Given the description of an element on the screen output the (x, y) to click on. 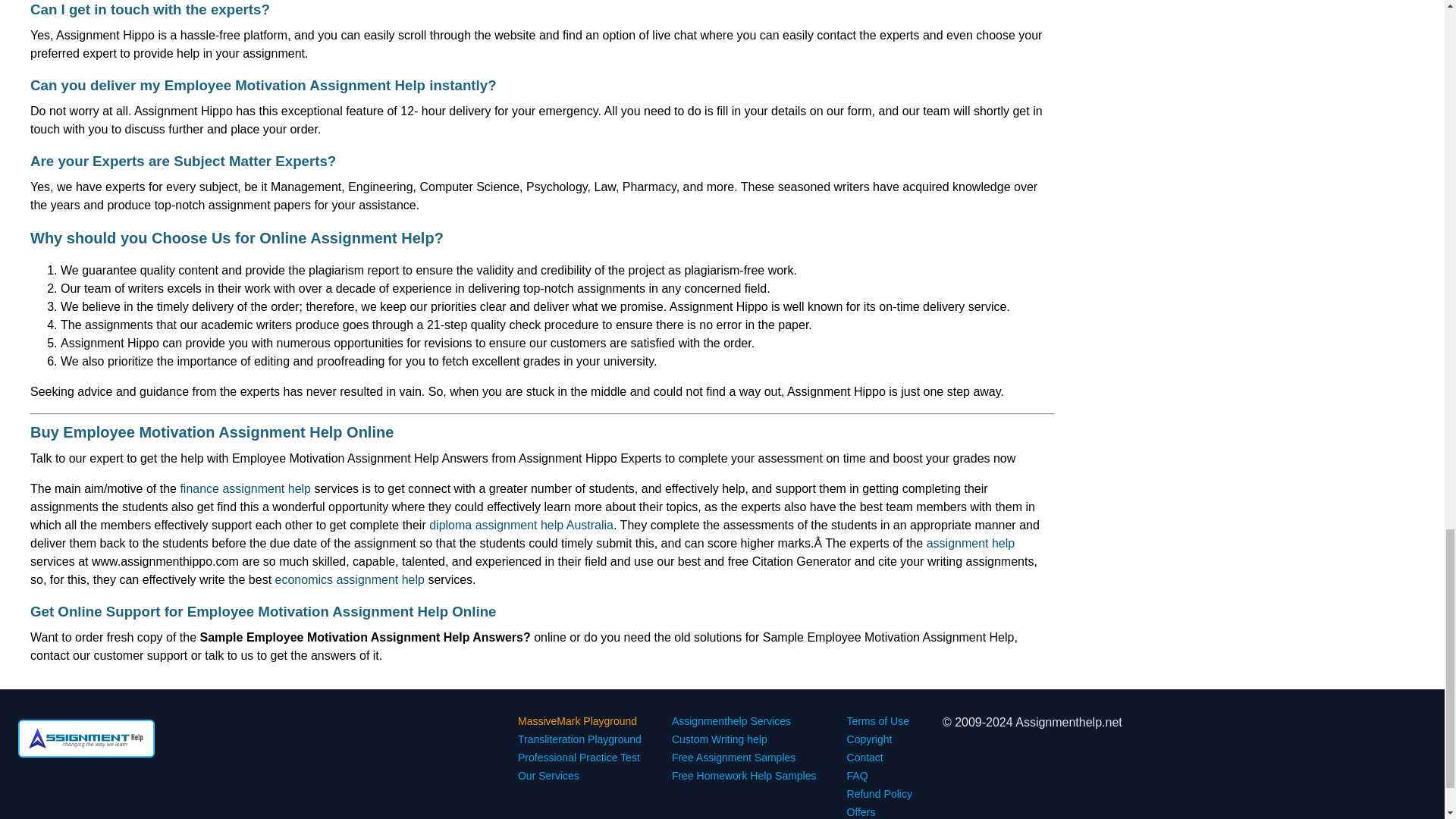
Our Services (548, 775)
Refund Policy (879, 793)
Transliteration Playground (580, 739)
Copyright (869, 739)
Free Assignment Samples (732, 757)
finance assignment help (245, 488)
economics assignment help (350, 579)
Assignmenthelp Services (730, 720)
finance assignment help (245, 488)
assignment help (970, 543)
Offers (861, 811)
Terms of Use (877, 720)
Professional Practice Test (579, 757)
MassiveMark Playground (577, 720)
diploma assignment help Australia (520, 524)
